Given the description of an element on the screen output the (x, y) to click on. 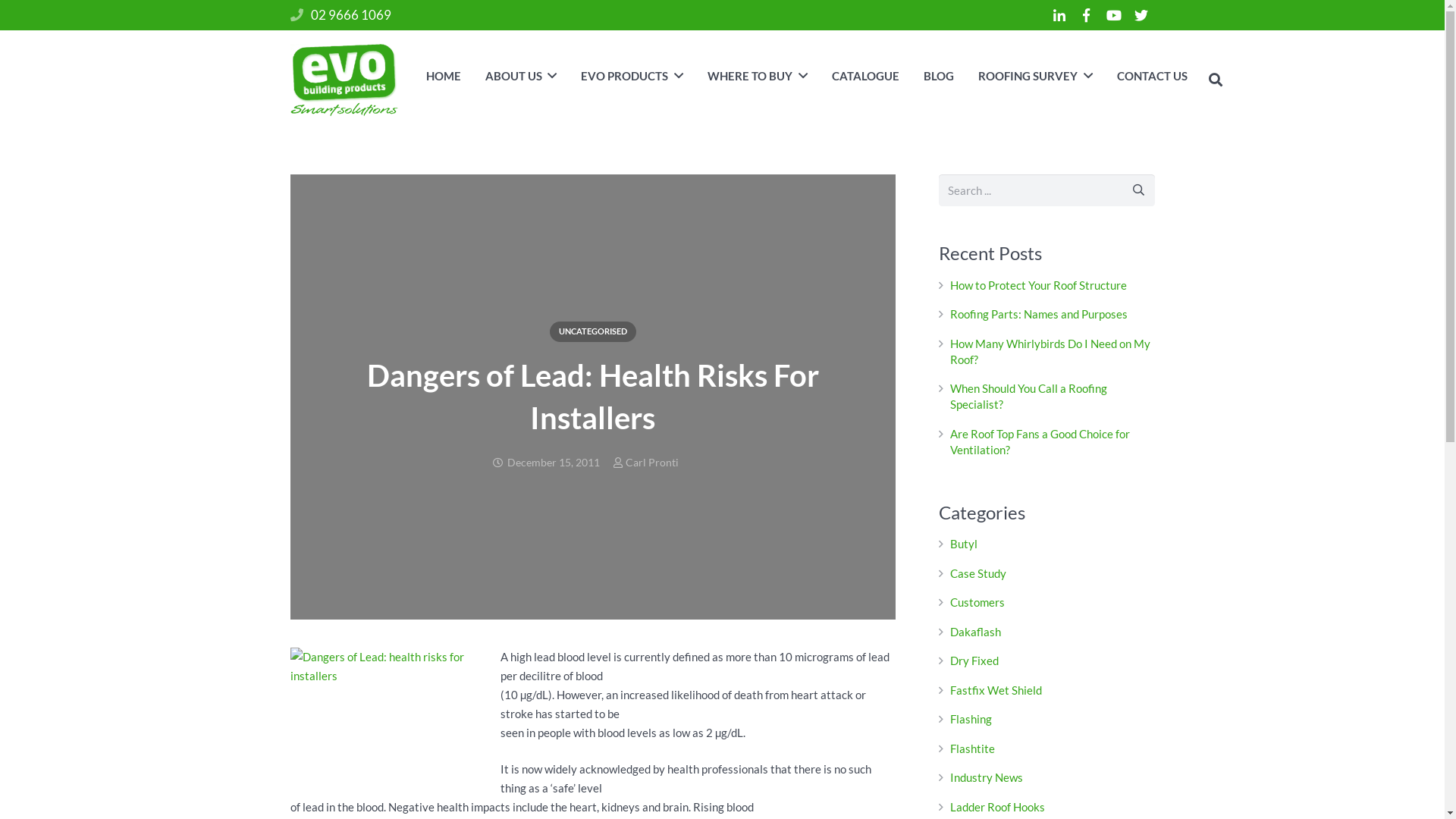
EVO PRODUCTS Element type: text (631, 75)
CATALOGUE Element type: text (865, 75)
Dry Fixed Element type: text (973, 660)
Fastfix Wet Shield Element type: text (995, 689)
Search Element type: hover (1215, 79)
Dakaflash Element type: text (974, 631)
Facebook Element type: hover (1085, 14)
02 9666 1069 Element type: text (350, 14)
Twitter Element type: hover (1140, 14)
WHERE TO BUY Element type: text (757, 75)
Industry News Element type: text (985, 777)
YouTube Element type: hover (1112, 14)
When Should You Call a Roofing Specialist? Element type: text (1027, 396)
How Many Whirlybirds Do I Need on My Roof? Element type: text (1049, 351)
How to Protect Your Roof Structure Element type: text (1037, 284)
Dangers of Lead Element type: hover (380, 707)
UNCATEGORISED Element type: text (592, 331)
CONTACT US Element type: text (1151, 75)
Case Study Element type: text (977, 573)
Flashtite Element type: text (971, 748)
Are Roof Top Fans a Good Choice for Ventilation? Element type: text (1039, 441)
Flashing Element type: text (970, 718)
Roofing Parts: Names and Purposes Element type: text (1037, 313)
Ladder Roof Hooks Element type: text (996, 806)
ROOFING SURVEY Element type: text (1035, 75)
Carl Pronti Element type: text (651, 462)
HOME Element type: text (443, 75)
ABOUT US Element type: text (521, 75)
BLOG Element type: text (938, 75)
Customers Element type: text (976, 601)
LinkedIn Element type: hover (1058, 14)
Butyl Element type: text (962, 543)
